Given the description of an element on the screen output the (x, y) to click on. 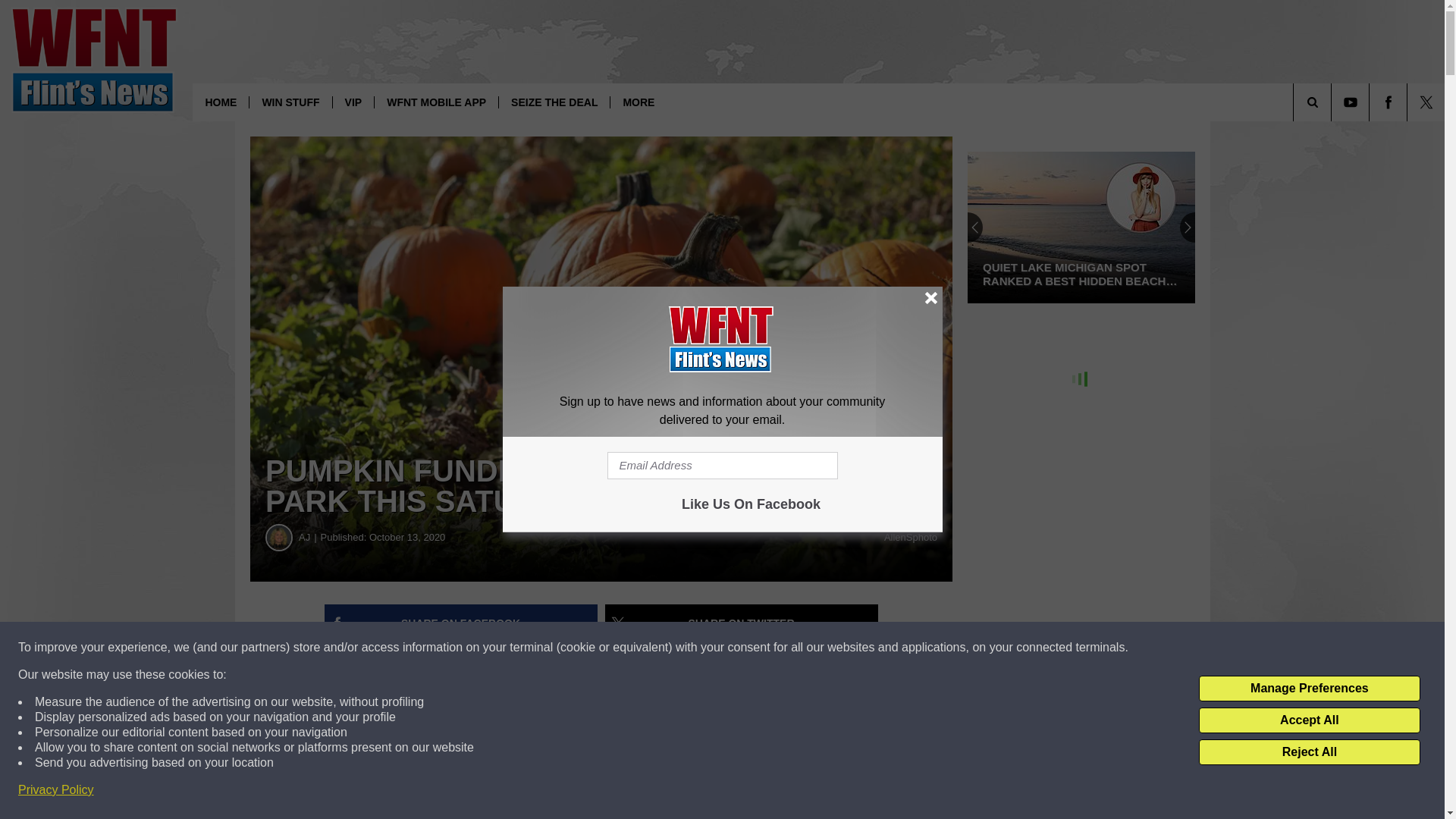
Manage Preferences (1309, 688)
WFNT MOBILE APP (435, 102)
SEARCH (1333, 102)
Privacy Policy (55, 789)
Reject All (1309, 751)
Visit us on Facebook (1388, 102)
VIP (352, 102)
Share on Twitter (741, 623)
HOME (220, 102)
Accept All (1309, 720)
AJ (278, 537)
WIN STUFF (289, 102)
Visit us on Youtube (1350, 102)
SEARCH (1333, 102)
MORE (638, 102)
